Given the description of an element on the screen output the (x, y) to click on. 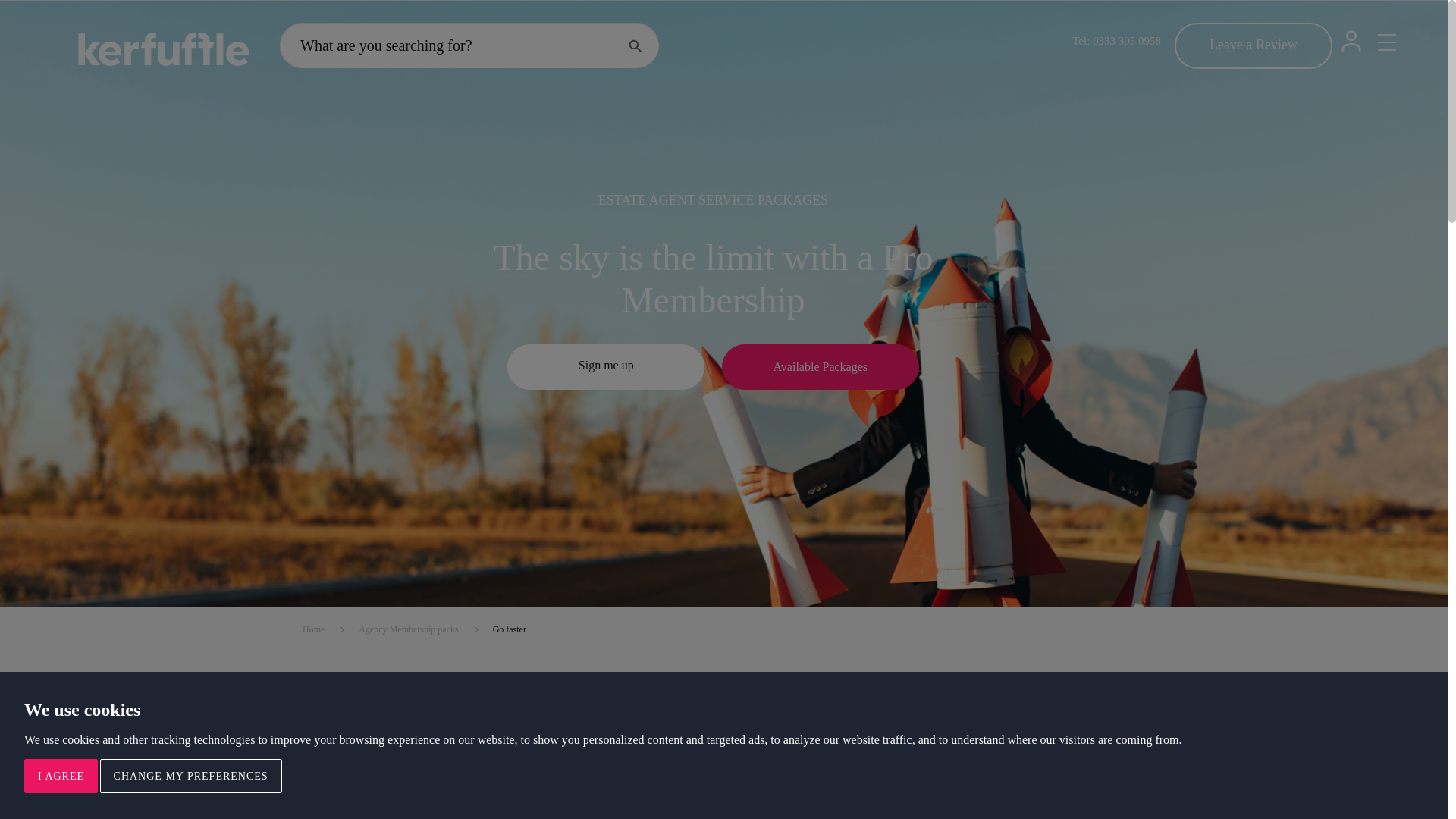
I AGREE (60, 775)
CHANGE MY PREFERENCES (191, 775)
Leave a Review (1253, 45)
Tel: 0333 305 0958 (1115, 40)
kerfuffle (164, 50)
Toggle navigation (1386, 42)
